Given the description of an element on the screen output the (x, y) to click on. 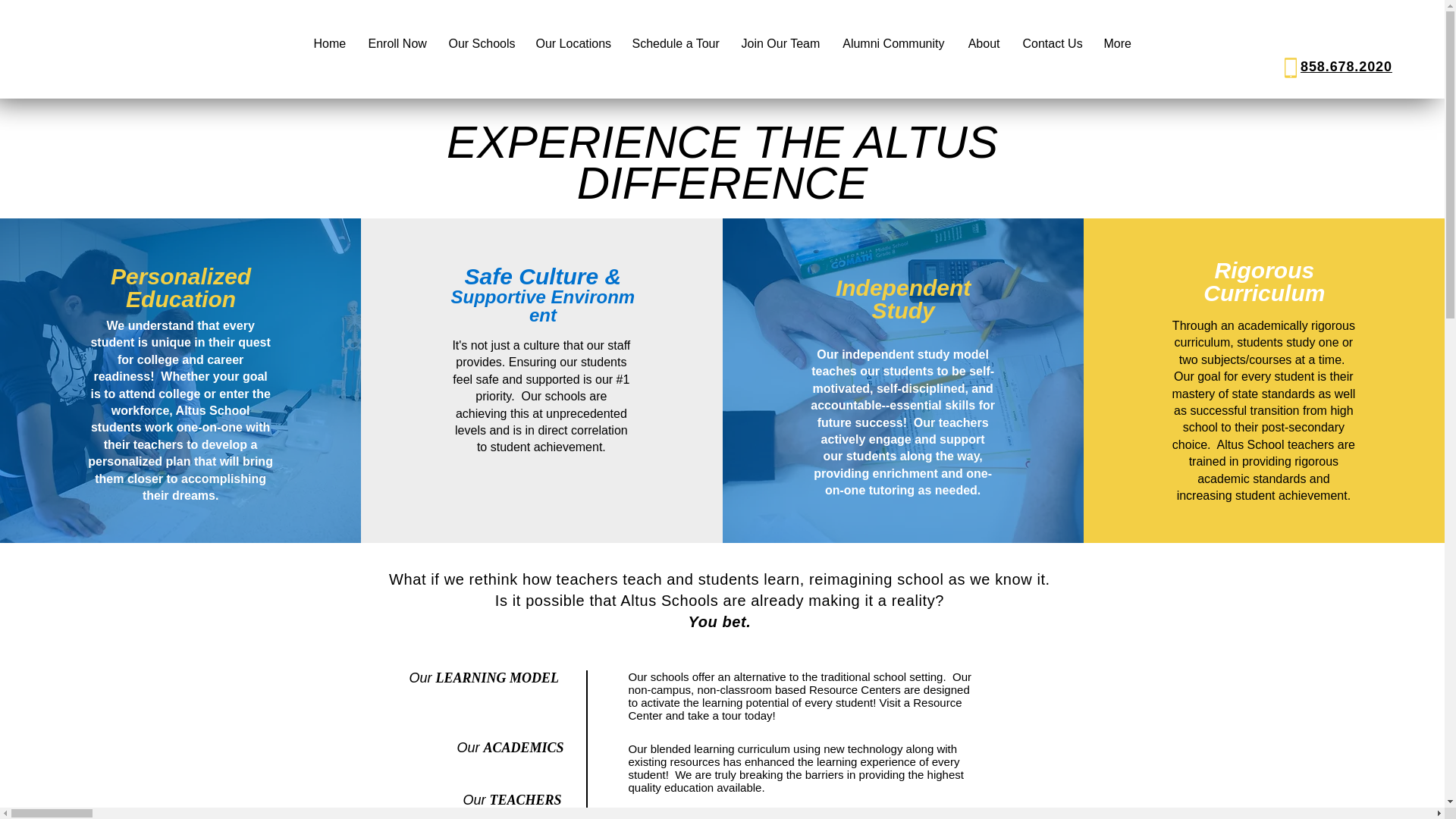
Contact Us (1052, 43)
Schedule a Tour (674, 43)
Join Our Team (779, 43)
Our Schools (480, 43)
Alumni Community (893, 43)
Home (328, 43)
About (982, 43)
Enroll Now (396, 43)
858.678.2020 (1345, 66)
Our Locations (572, 43)
